Given the description of an element on the screen output the (x, y) to click on. 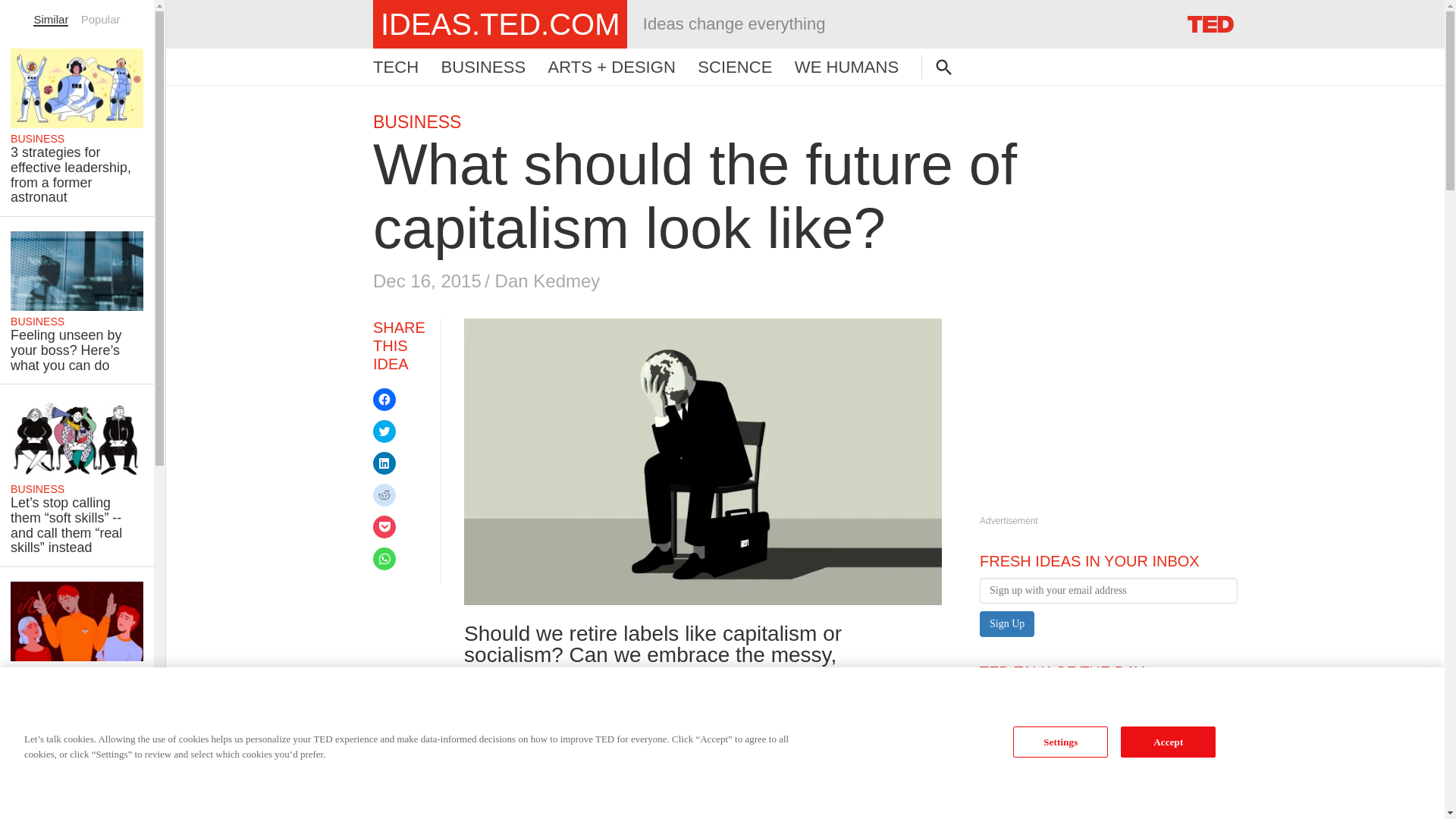
Similar (50, 19)
Click to share on Reddit (384, 495)
BUSINESS (416, 121)
3rd party ad content (1093, 412)
Sign Up (1006, 623)
Posts by Dan Kedmey (547, 281)
Popular (100, 19)
Click to share on Pocket (384, 526)
Click to share on Facebook (384, 399)
WE HUMANS (846, 66)
SCIENCE (734, 66)
IDEAS.TED.COM (1108, 716)
Click to share on Twitter (499, 24)
Click to share on LinkedIn (384, 431)
